Given the description of an element on the screen output the (x, y) to click on. 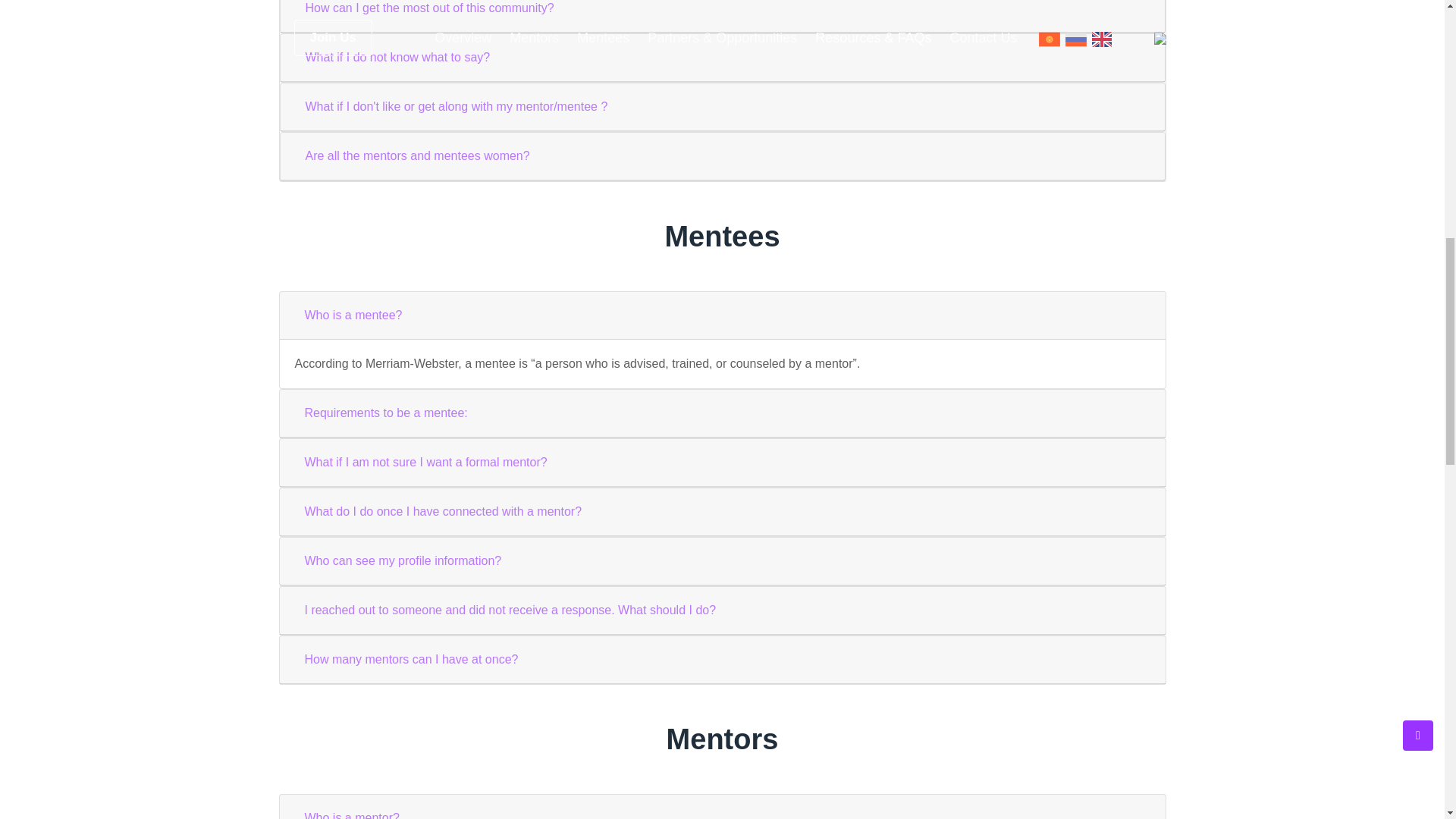
How can I get the most out of this community? (429, 11)
Who can see my profile information? (402, 561)
How many mentors can I have at once? (410, 659)
Who is a mentee? (353, 315)
What if I am not sure I want a formal mentor? (425, 461)
Requirements to be a mentee: (385, 412)
What if I do not know what to say? (397, 57)
Are all the mentors and mentees women? (417, 155)
Who is a mentor? (351, 811)
